Given the description of an element on the screen output the (x, y) to click on. 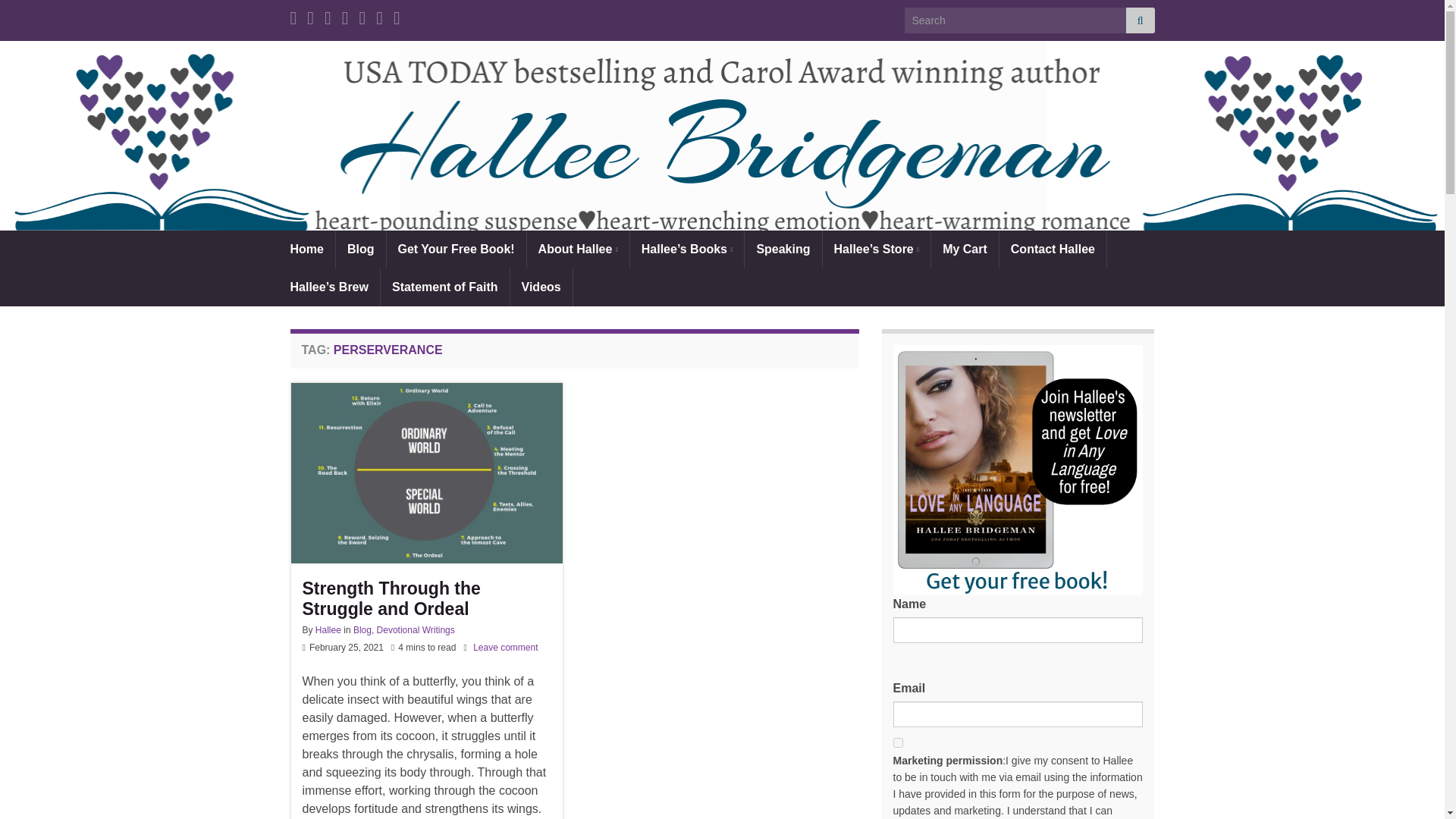
2021-02-25T07:00:00-05:00 (346, 647)
on (897, 742)
About Hallee (577, 249)
Permalink to Strength Through the Struggle and Ordeal (425, 598)
Get Your Free Book! (456, 249)
Home (306, 249)
Blog (360, 249)
